Given the description of an element on the screen output the (x, y) to click on. 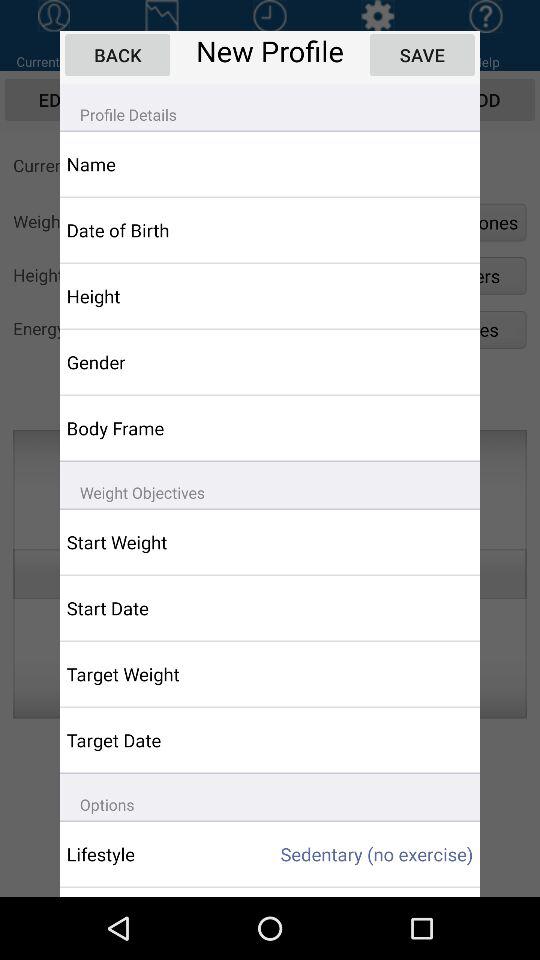
open the height item (156, 295)
